Given the description of an element on the screen output the (x, y) to click on. 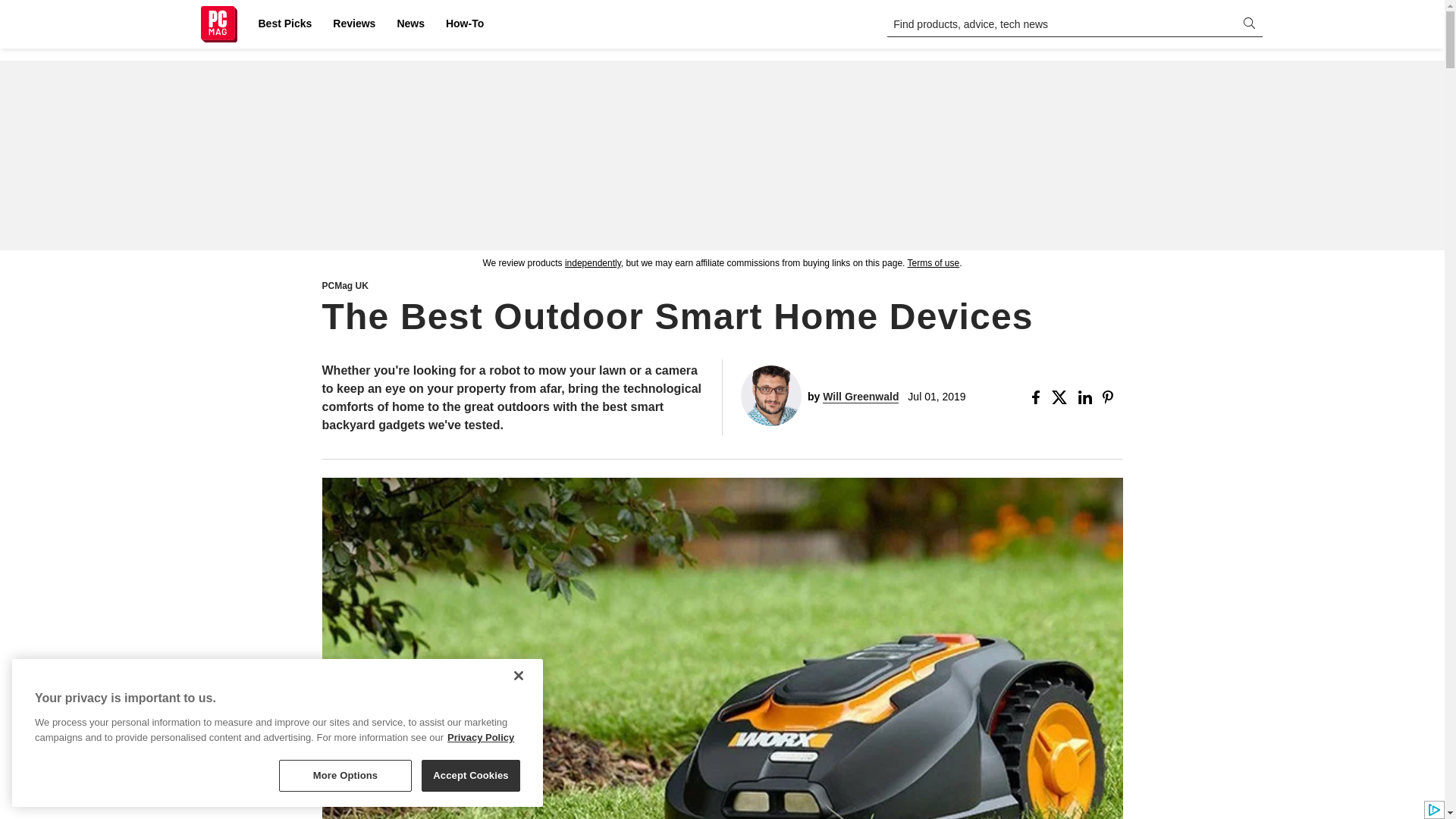
Best Picks (284, 24)
Share this Story on X (1061, 397)
3rd party ad content (721, 155)
Share this Story on Pinterest (1112, 397)
Share this Story on Facebook (1038, 397)
Share this Story on Linkedin (1087, 397)
